Given the description of an element on the screen output the (x, y) to click on. 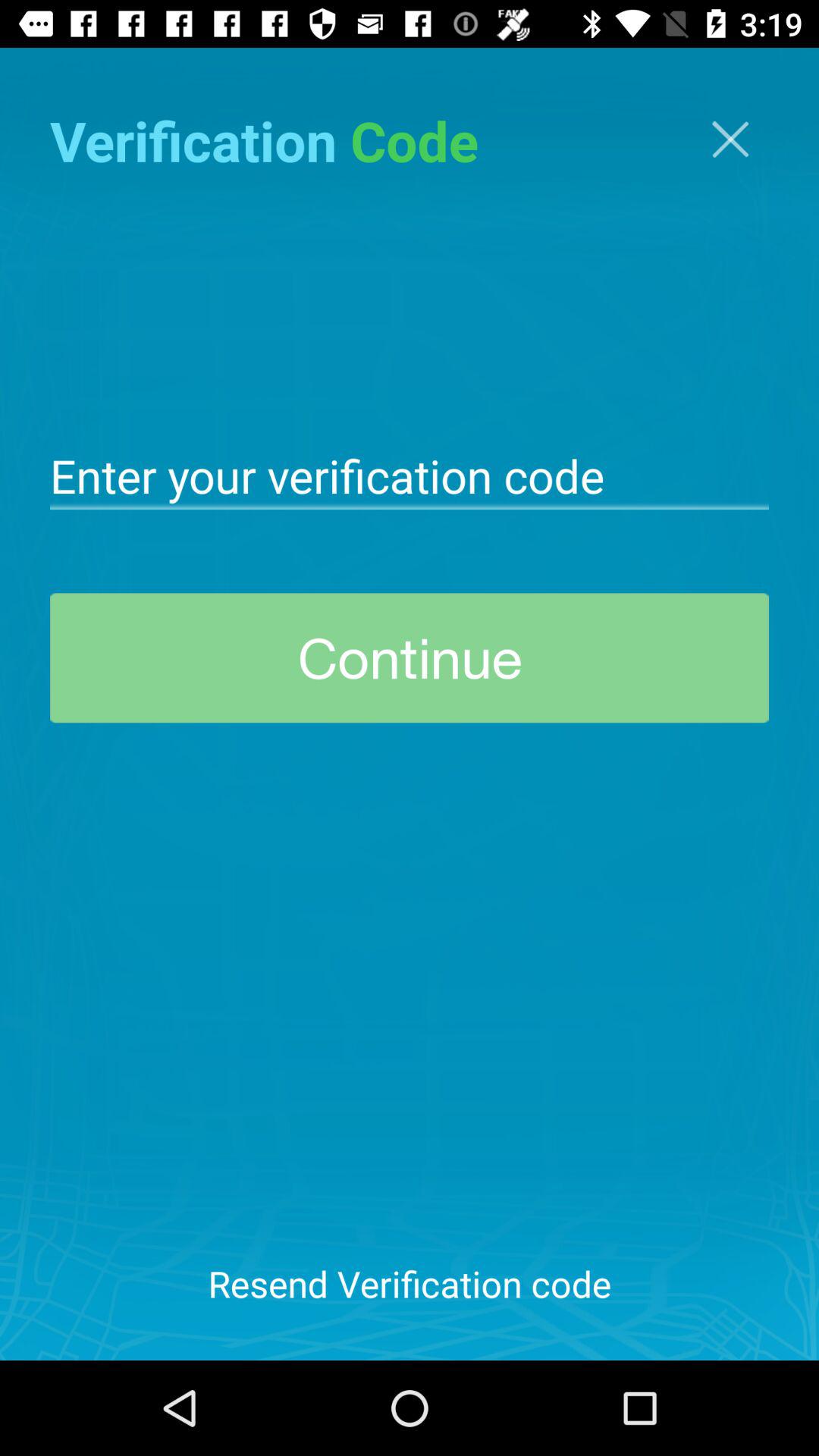
close screen (730, 139)
